Given the description of an element on the screen output the (x, y) to click on. 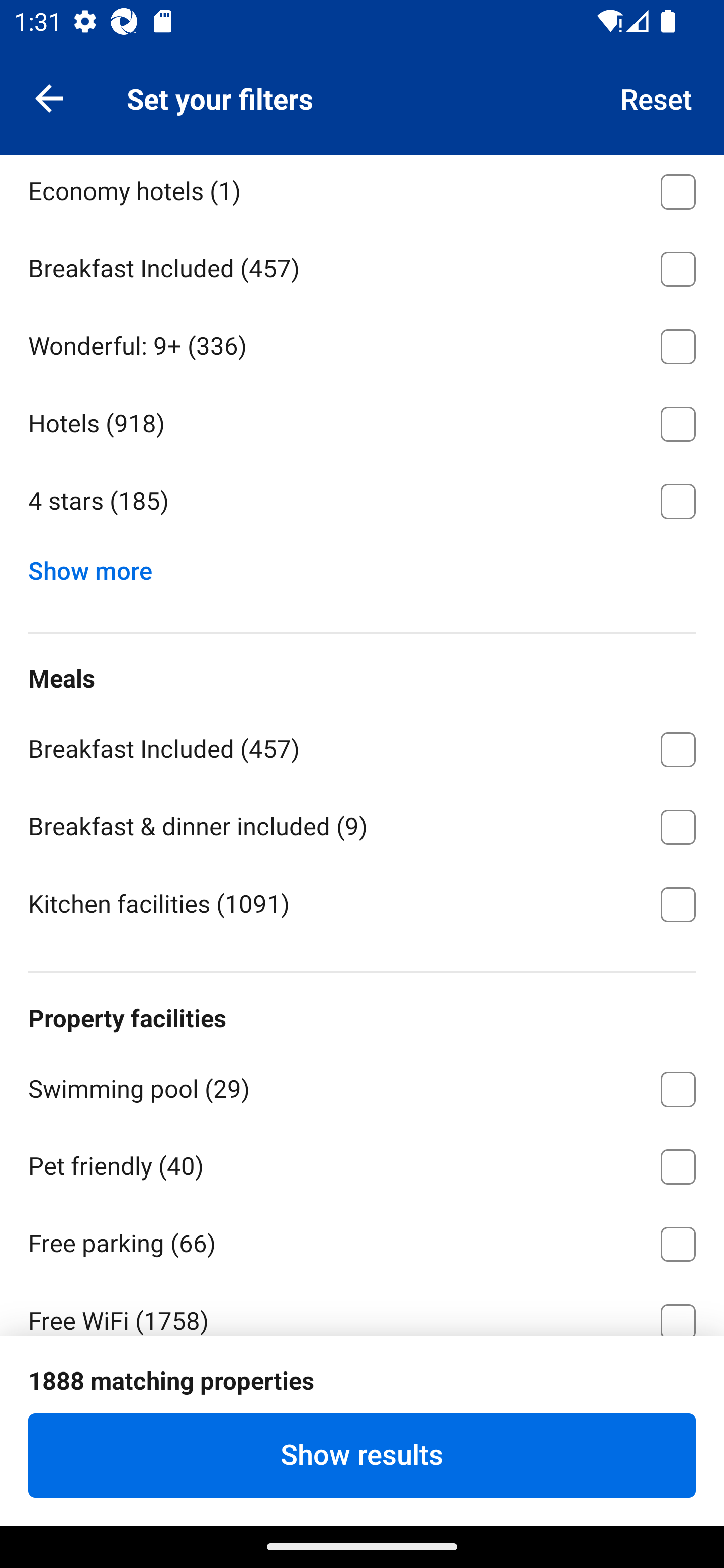
Navigate up (49, 97)
Reset (656, 97)
Economy hotels ⁦(1) (361, 191)
Breakfast Included ⁦(457) (361, 265)
Wonderful: 9+ ⁦(336) (361, 343)
Hotels ⁦(918) (361, 420)
4 stars ⁦(185) (361, 501)
Show more (97, 566)
Breakfast Included ⁦(457) (361, 746)
Breakfast & dinner included ⁦(9) (361, 823)
Kitchen facilities ⁦(1091) (361, 902)
Swimming pool ⁦(29) (361, 1085)
Pet friendly ⁦(40) (361, 1163)
Free parking ⁦(66) (361, 1240)
Free WiFi ⁦(1758) (361, 1307)
Parking ⁦(373) (361, 1398)
Show results (361, 1454)
